Given the description of an element on the screen output the (x, y) to click on. 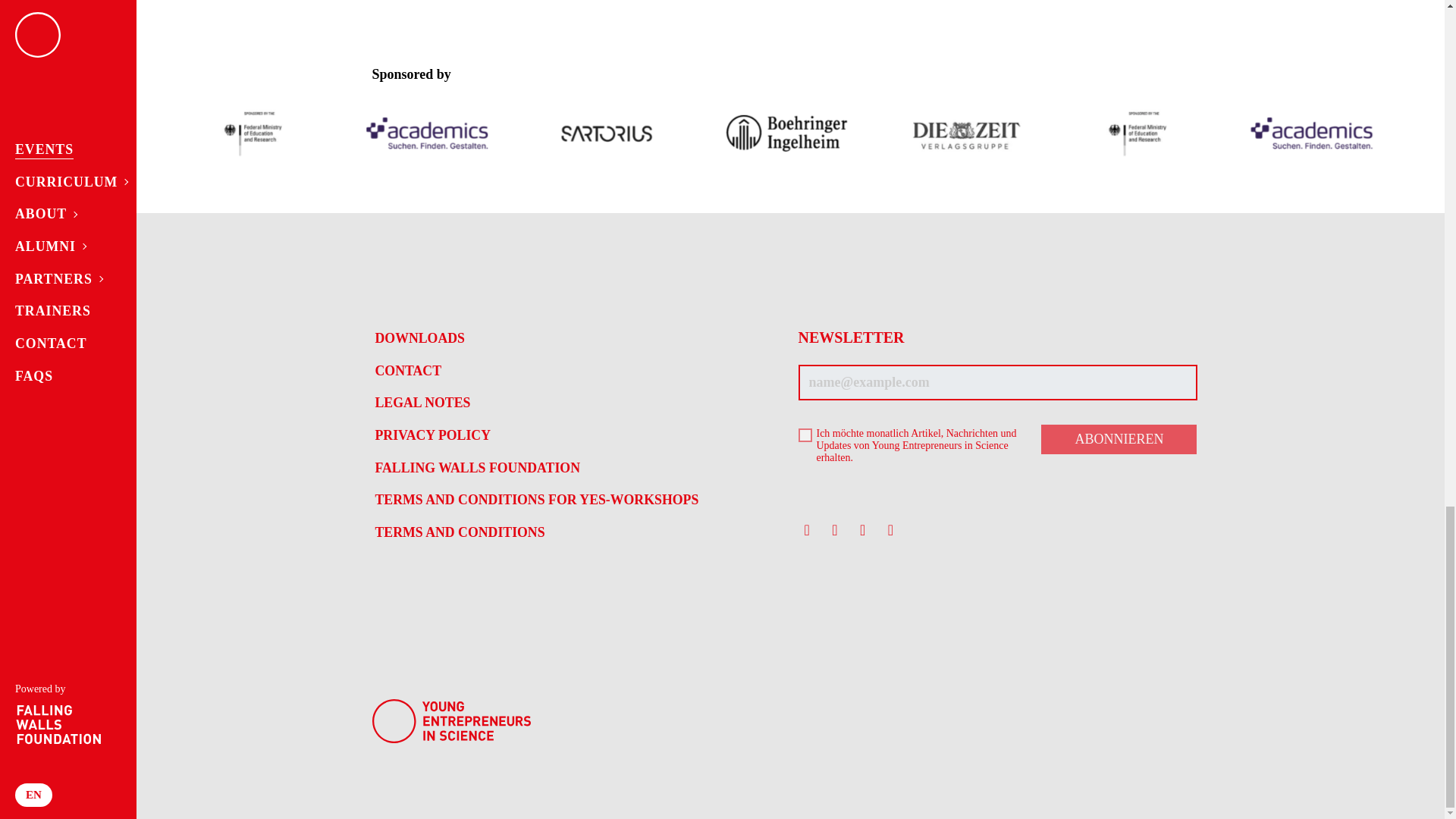
Abonnieren (1118, 439)
1 (803, 435)
